Given the description of an element on the screen output the (x, y) to click on. 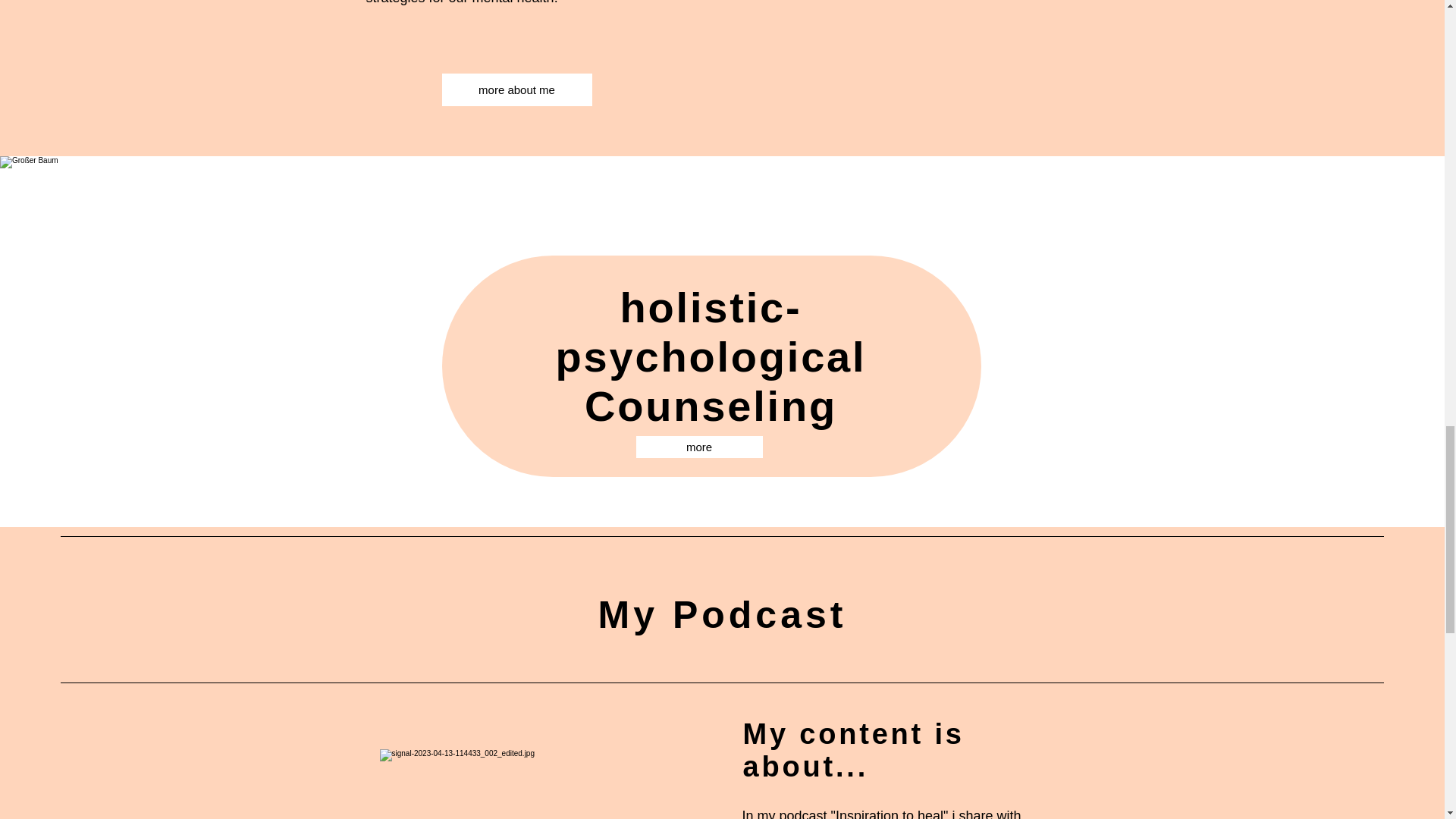
more (697, 446)
more about me (516, 89)
